Given the description of an element on the screen output the (x, y) to click on. 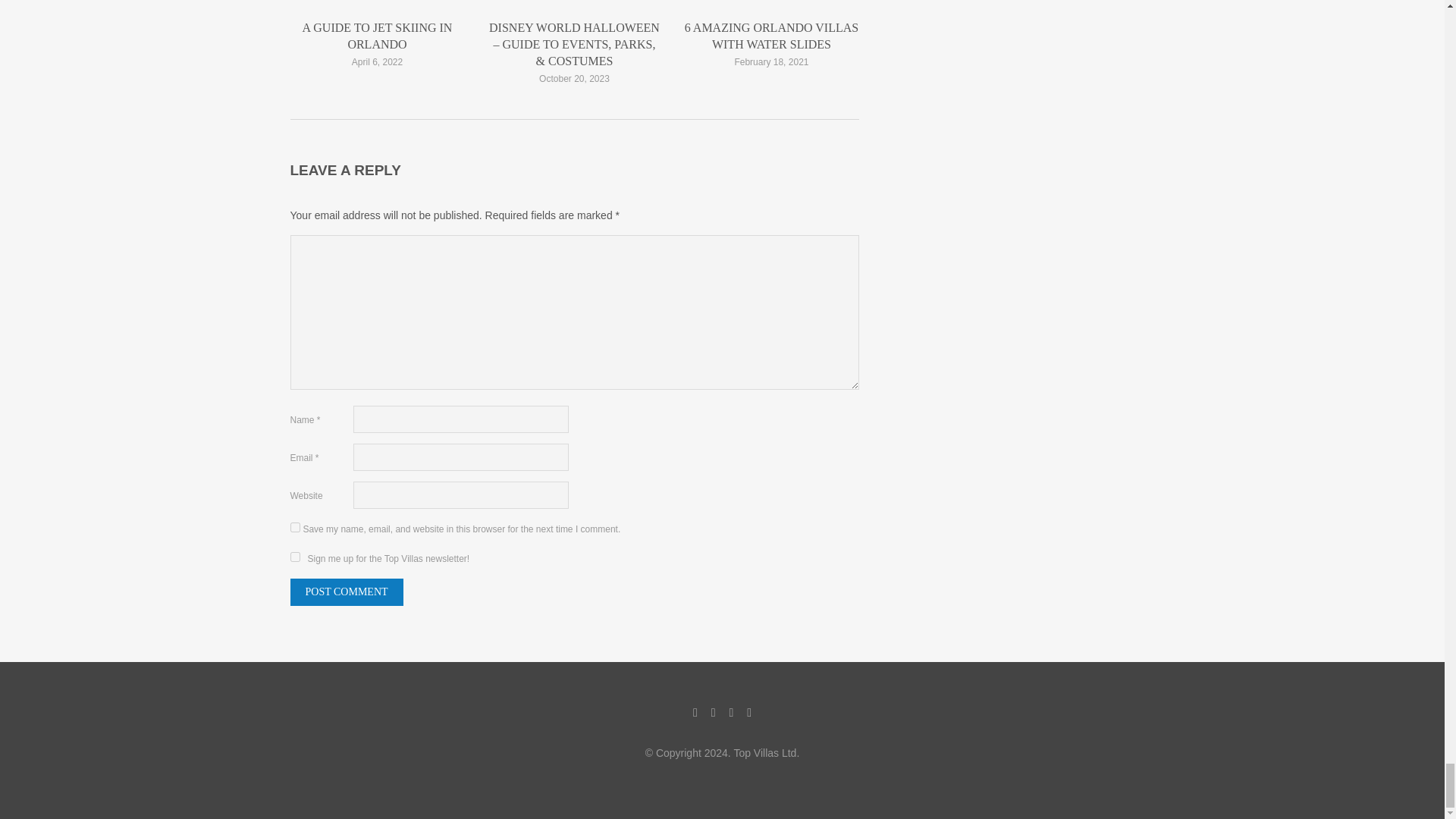
yes (294, 527)
Post Comment (346, 592)
1 (294, 556)
